Given the description of an element on the screen output the (x, y) to click on. 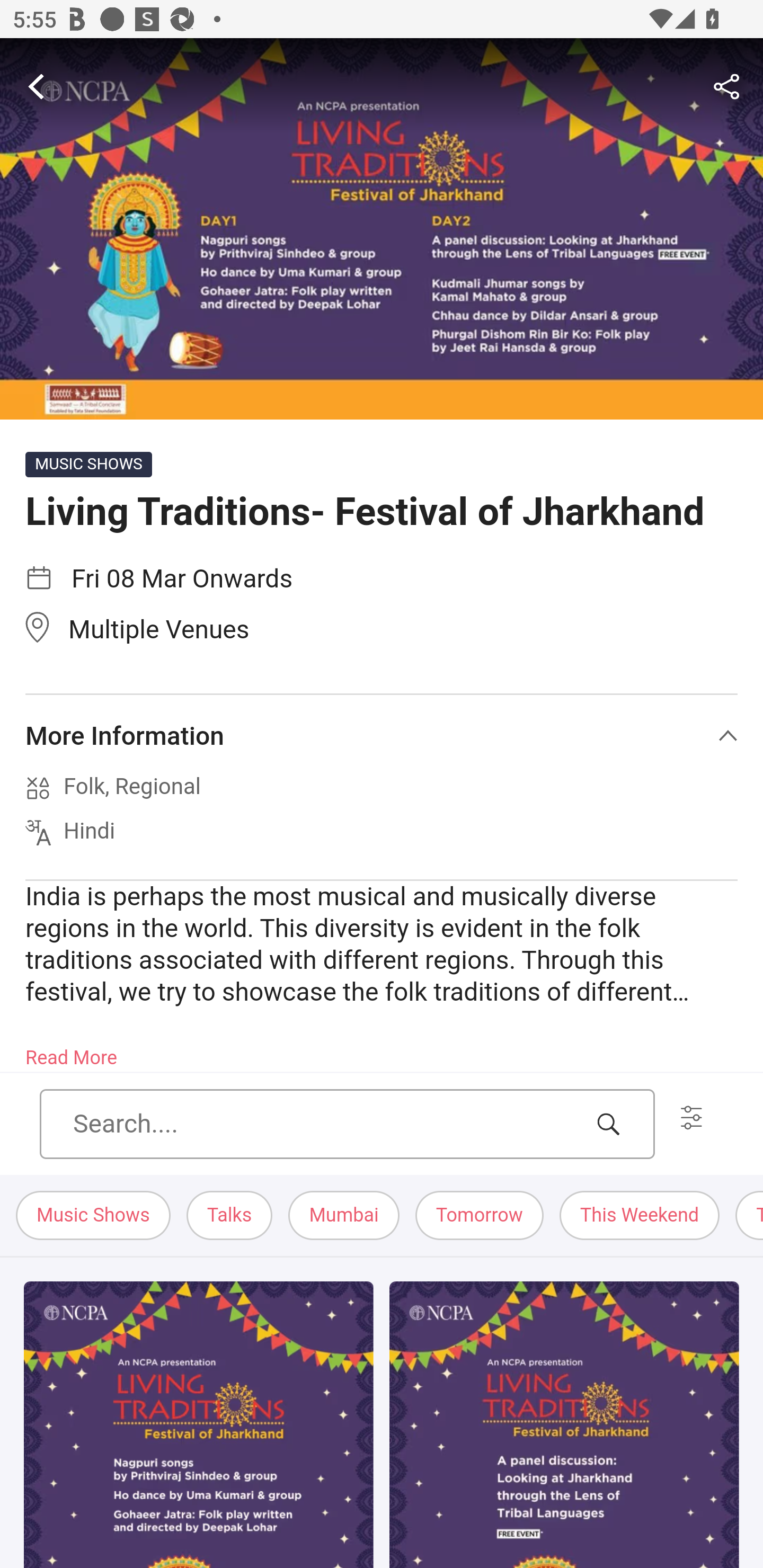
More Information (381, 735)
Read More (71, 1051)
Music Shows (93, 1215)
Talks (229, 1215)
Mumbai (343, 1215)
Tomorrow (479, 1215)
This Weekend (638, 1215)
